Given the description of an element on the screen output the (x, y) to click on. 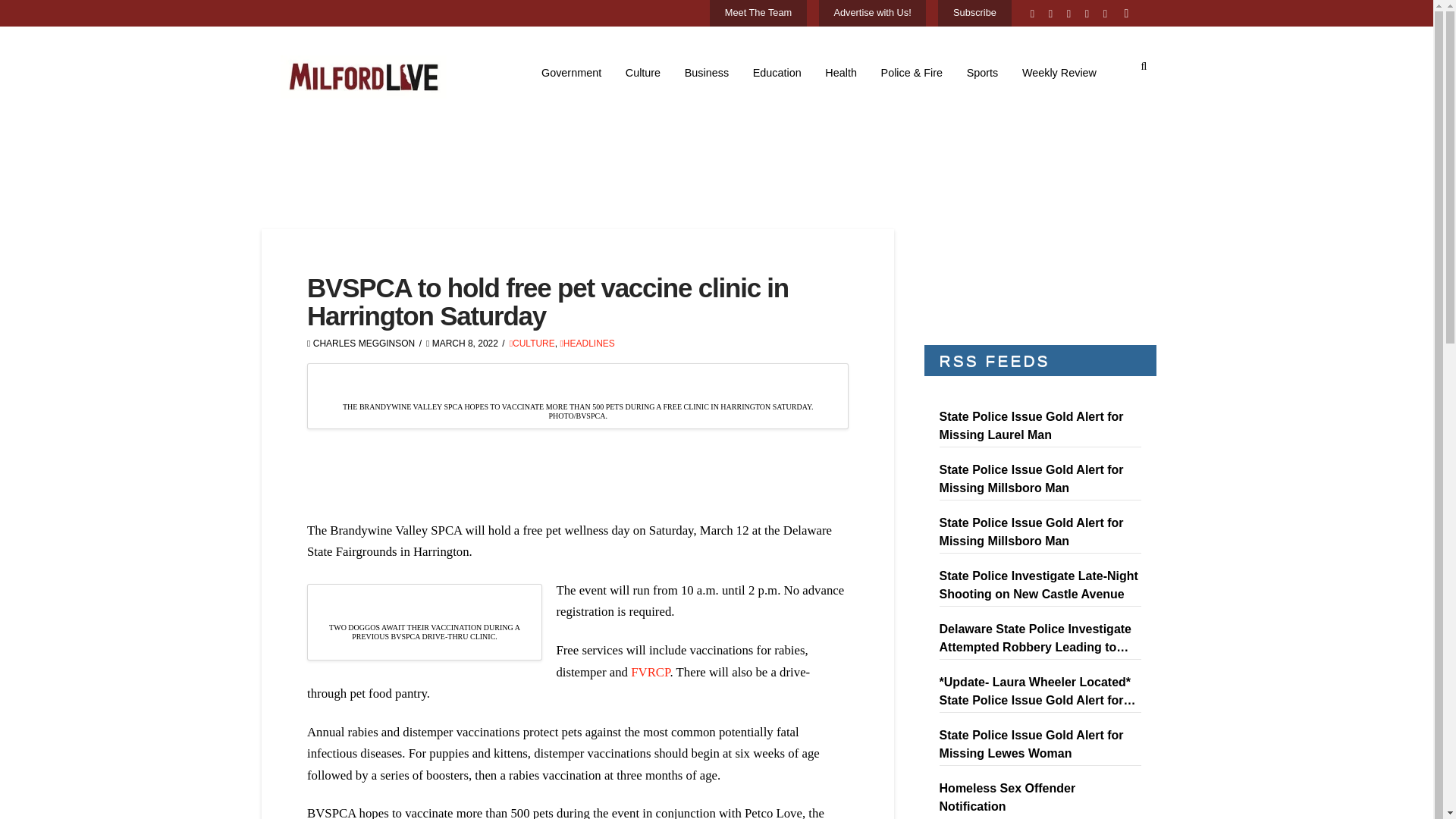
Subscribe (973, 14)
Education (777, 72)
Culture (642, 72)
Government (570, 72)
Sports (982, 72)
CULTURE (531, 343)
Advertise with Us! (872, 14)
Weekly Review (1059, 72)
Meet The Team (758, 14)
Health (841, 72)
FVRCP (649, 672)
HEADLINES (586, 343)
Business (706, 72)
